Given the description of an element on the screen output the (x, y) to click on. 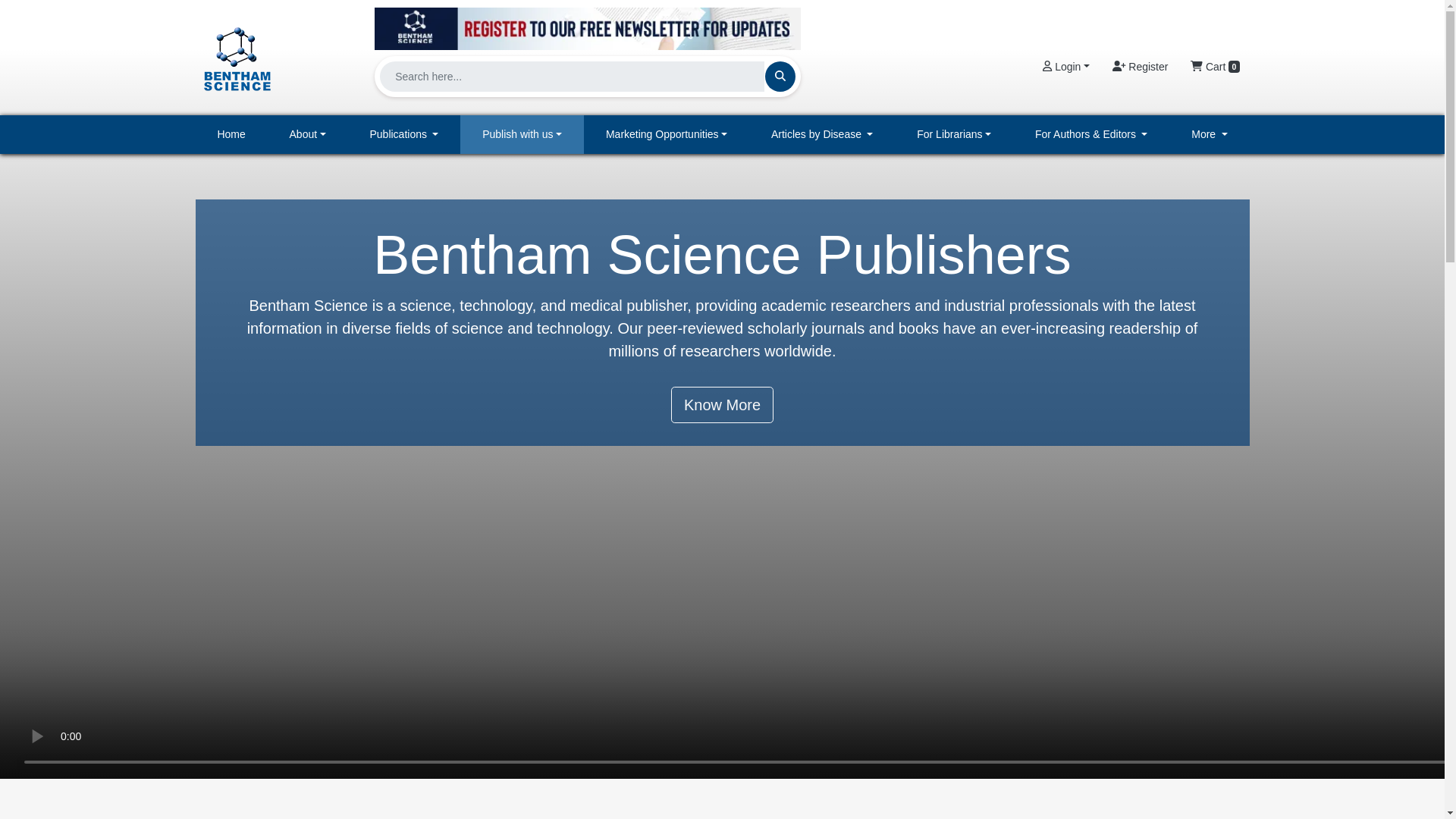
newsletter banner (587, 28)
About (307, 134)
Cart 0 (1214, 67)
Home (231, 134)
Register (1139, 67)
Search Button (779, 76)
Publications (404, 134)
Login (1065, 67)
newsletter banner (587, 24)
